Given the description of an element on the screen output the (x, y) to click on. 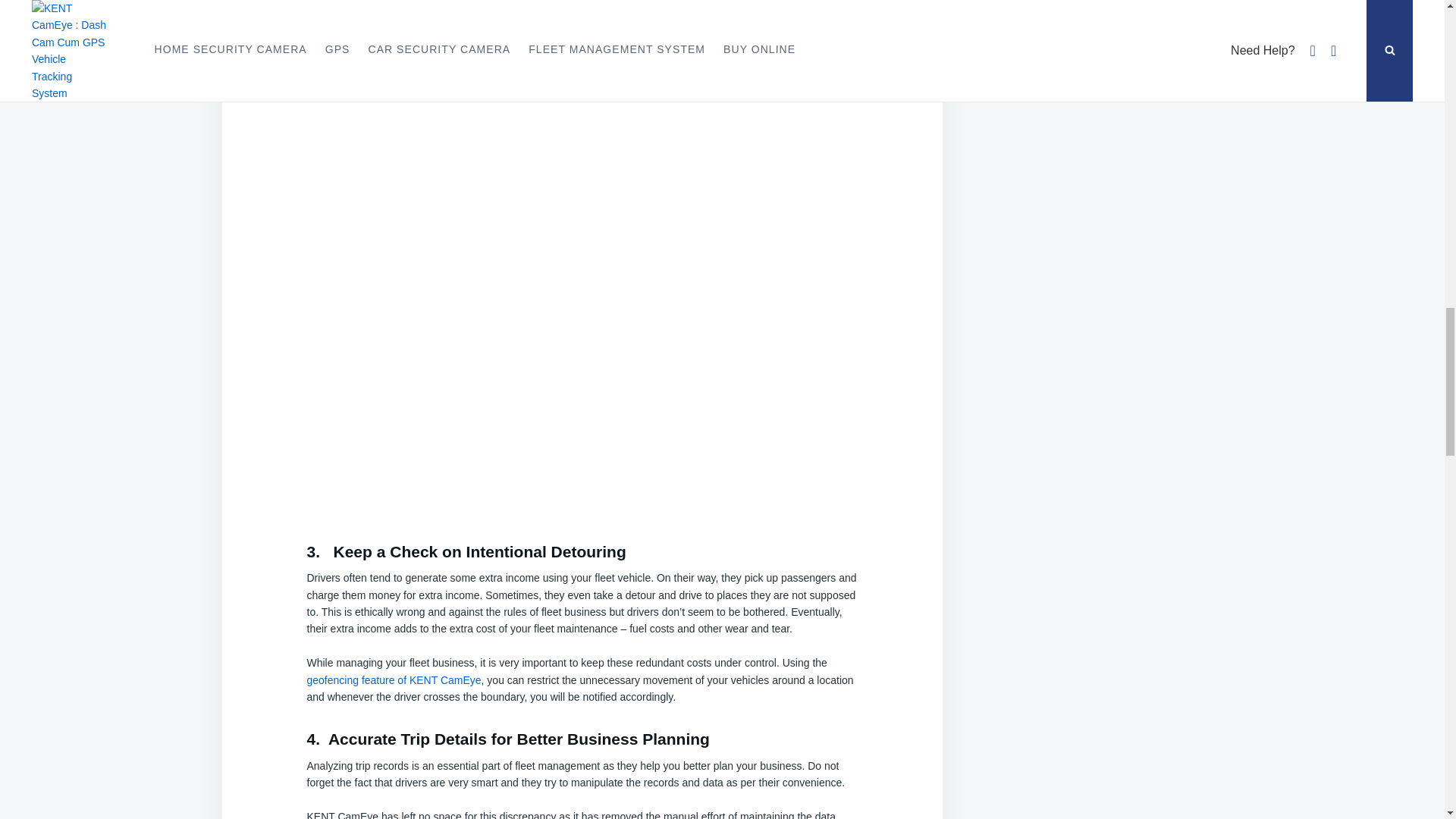
geofencing feature of KENT CamEye (392, 680)
